Given the description of an element on the screen output the (x, y) to click on. 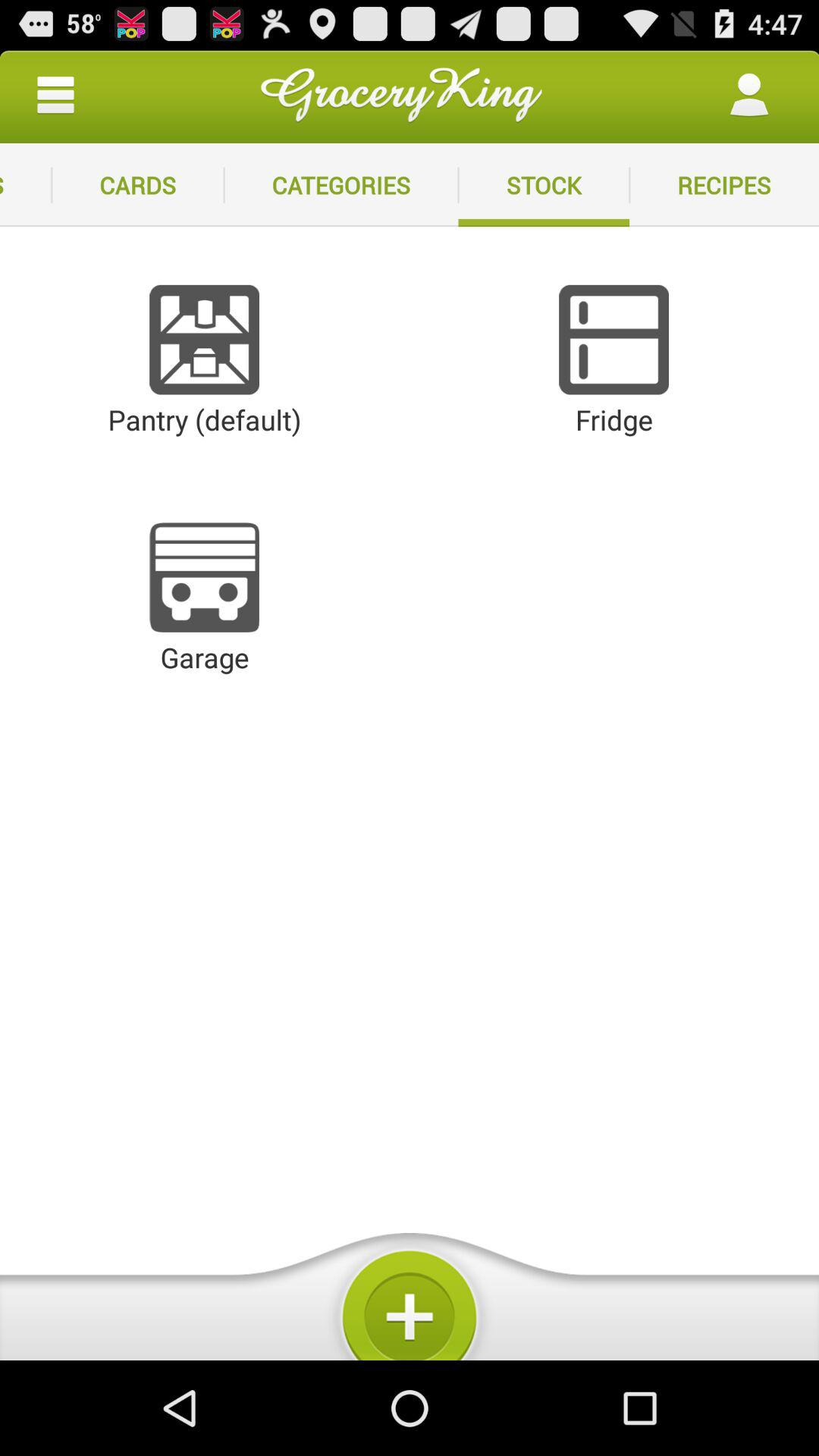
select the item to the left of recipes (543, 184)
